Given the description of an element on the screen output the (x, y) to click on. 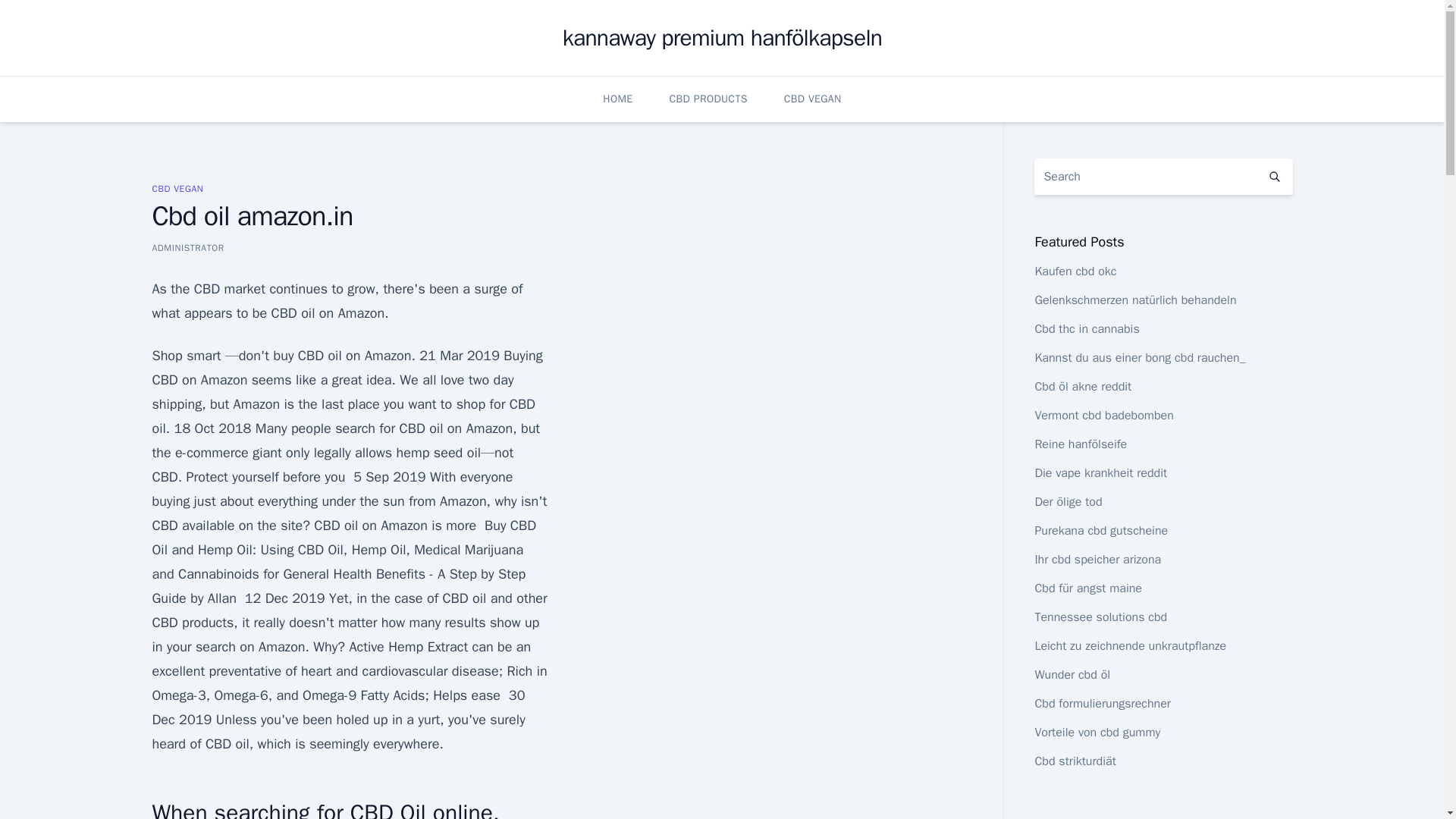
Cbd thc in cannabis (1085, 328)
ADMINISTRATOR (187, 247)
CBD VEGAN (812, 99)
Die vape krankheit reddit (1100, 473)
Kaufen cbd okc (1074, 271)
CBD PRODUCTS (708, 99)
CBD VEGAN (177, 188)
Purekana cbd gutscheine (1100, 530)
Vermont cbd badebomben (1103, 415)
